Given the description of an element on the screen output the (x, y) to click on. 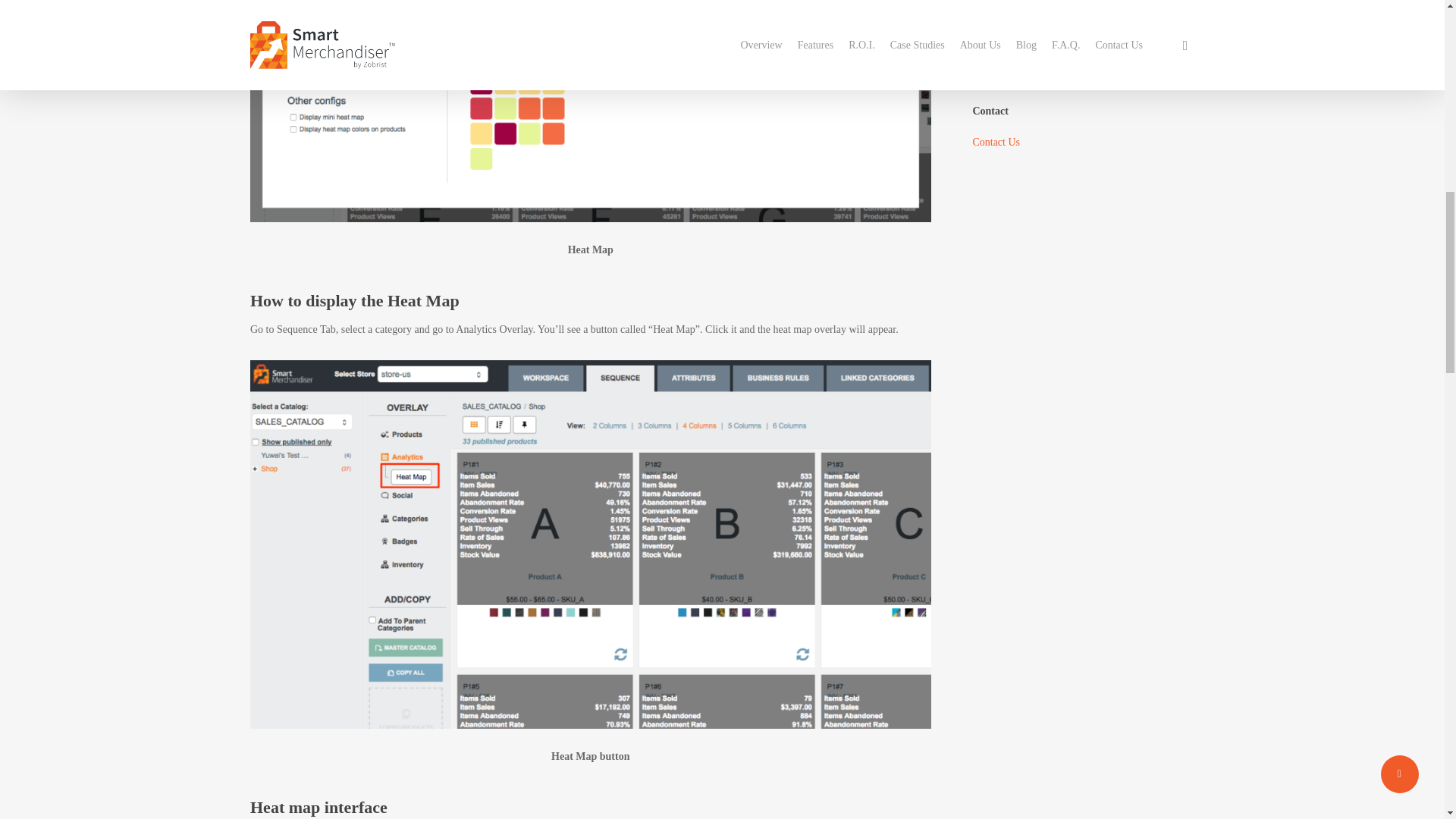
Features (1082, 3)
Shift-click to edit this widget. (1082, 30)
Contact Us (996, 142)
News Articles (1082, 22)
